Given the description of an element on the screen output the (x, y) to click on. 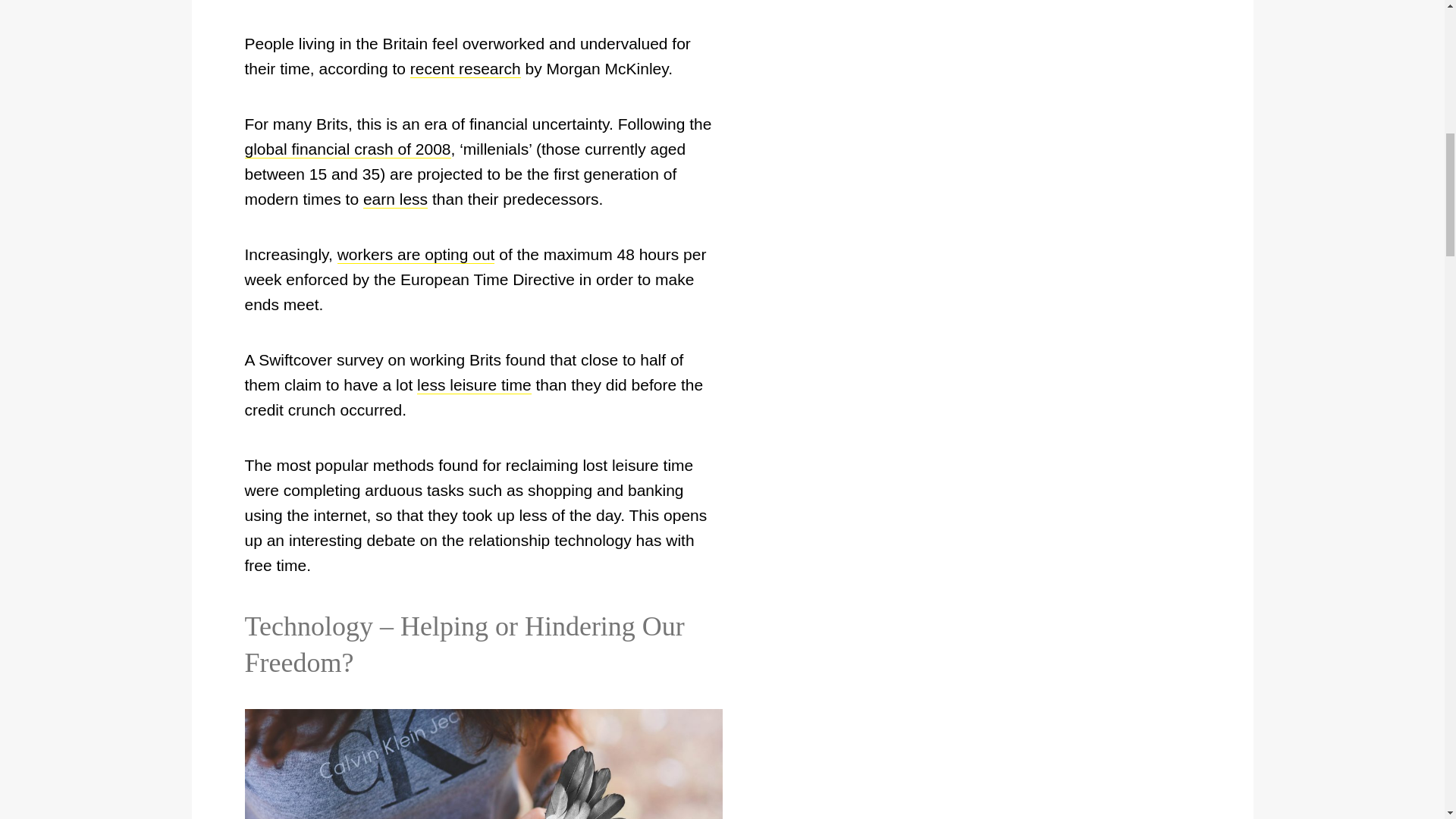
recent research (465, 68)
workers are opting out (416, 254)
global financial crash of 2008 (346, 149)
less leisure time (473, 384)
earn less (395, 199)
